Given the description of an element on the screen output the (x, y) to click on. 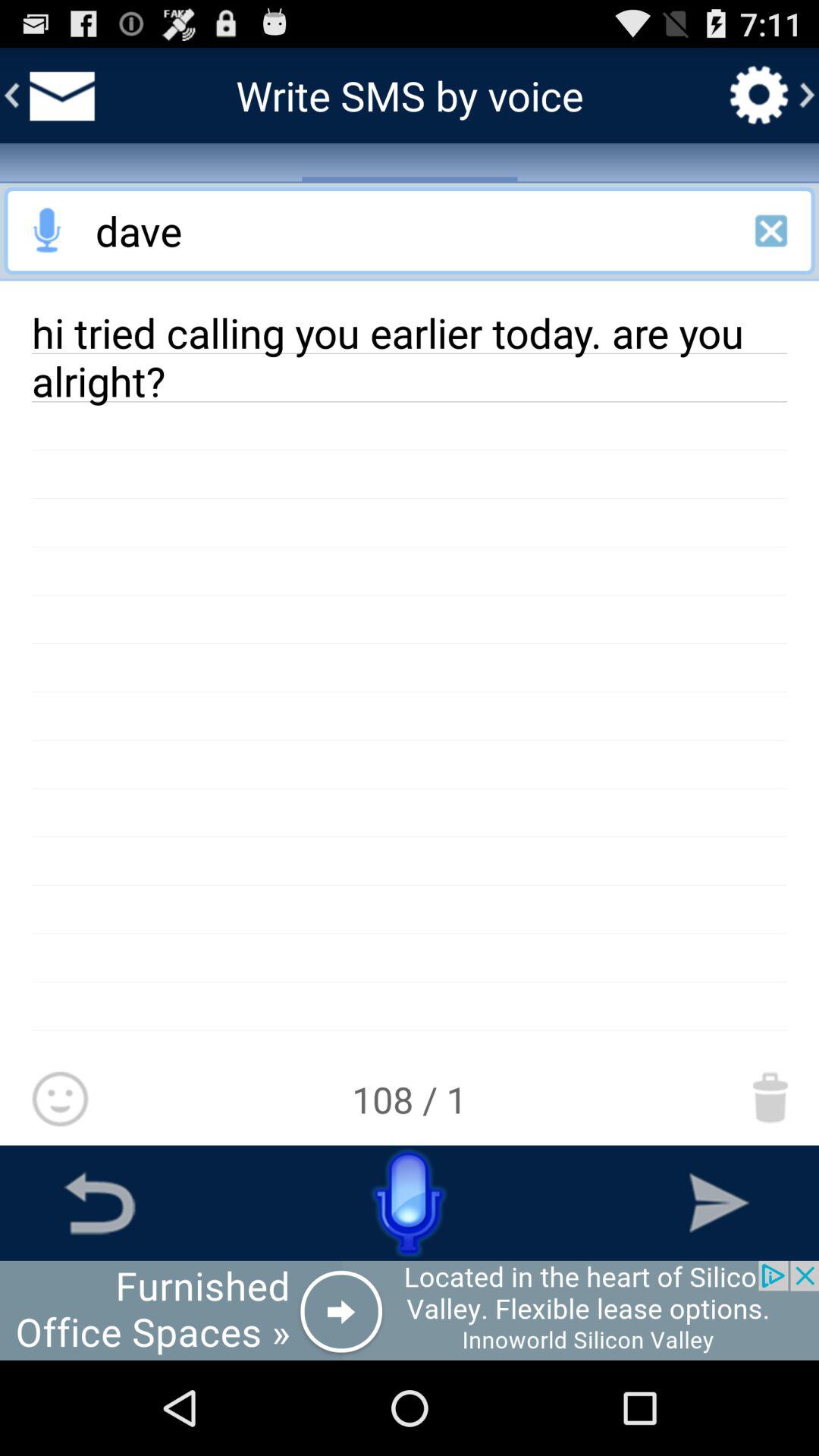
exit (771, 230)
